Given the description of an element on the screen output the (x, y) to click on. 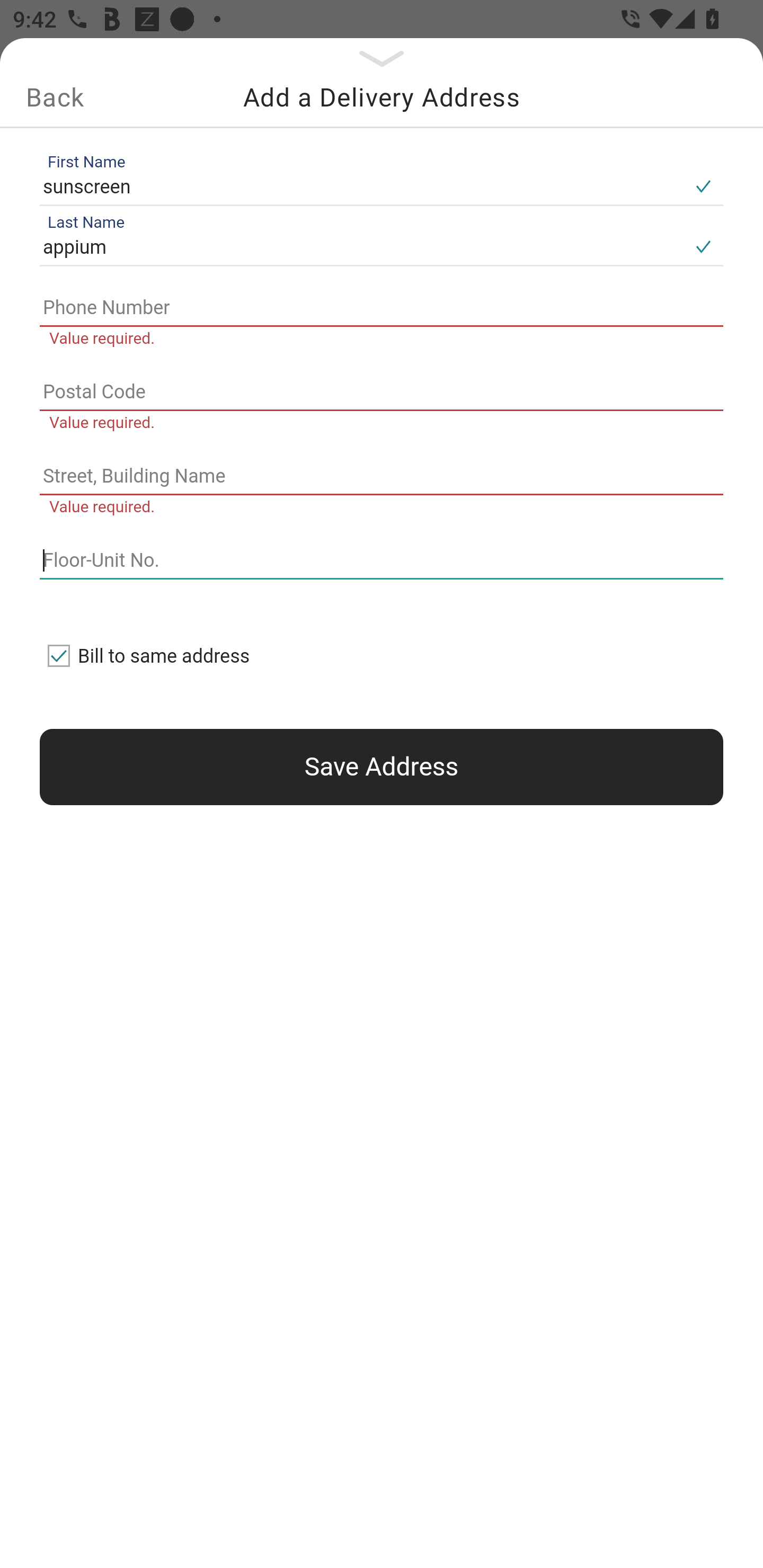
Back (54, 96)
Add a Delivery Address (381, 96)
sunscreen (361, 186)
appium (361, 247)
Save Address (381, 767)
